Given the description of an element on the screen output the (x, y) to click on. 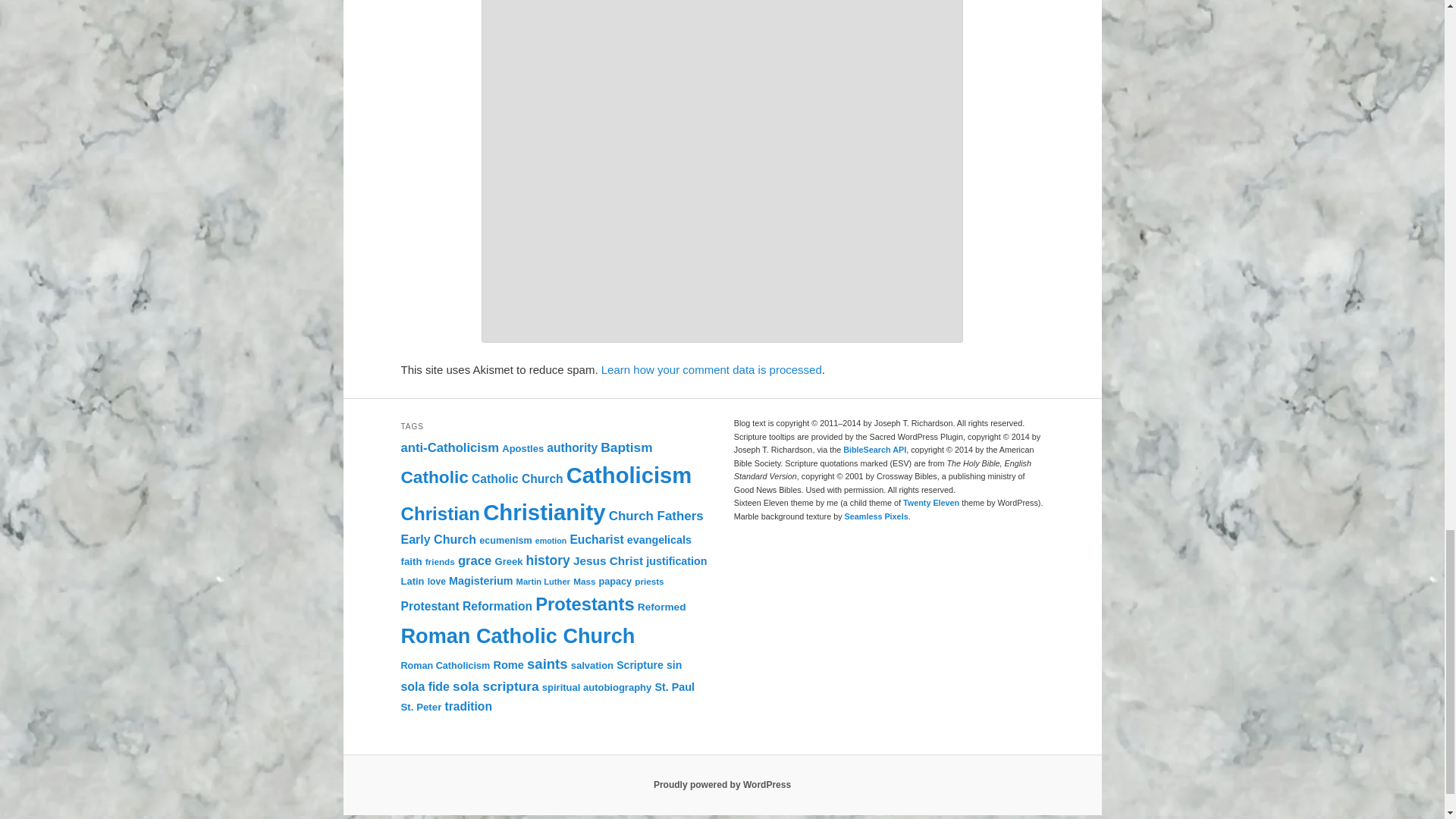
Semantic Personal Publishing Platform (721, 784)
